Given the description of an element on the screen output the (x, y) to click on. 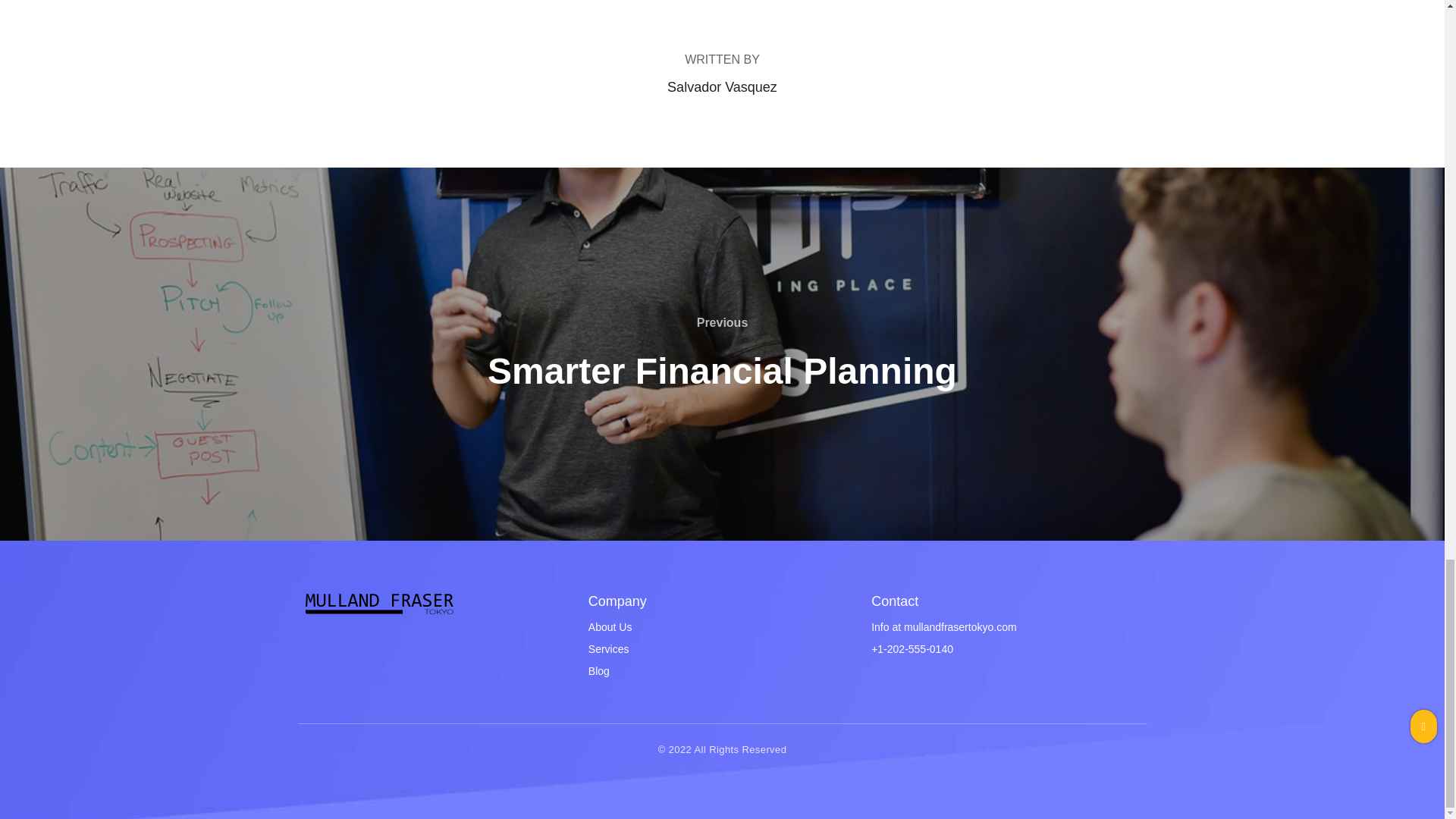
Blog (599, 671)
Services (608, 648)
About Us (609, 626)
Salvador Vasquez (721, 87)
Posts by Salvador Vasquez (721, 87)
